Given the description of an element on the screen output the (x, y) to click on. 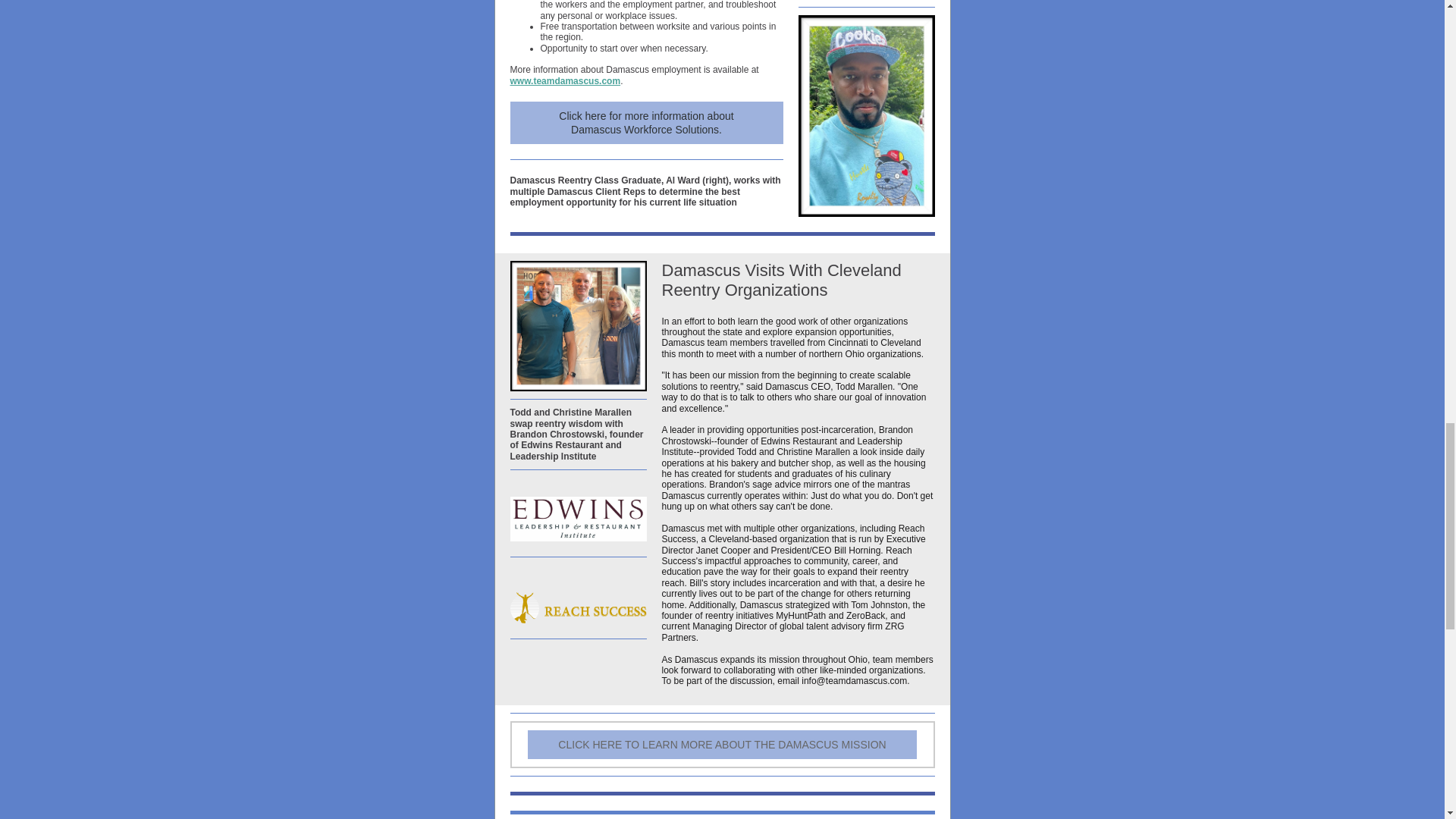
CLICK HERE TO LEARN MORE ABOUT THE DAMASCUS MISSION (721, 744)
www.teamdamascus.com (564, 81)
